Given the description of an element on the screen output the (x, y) to click on. 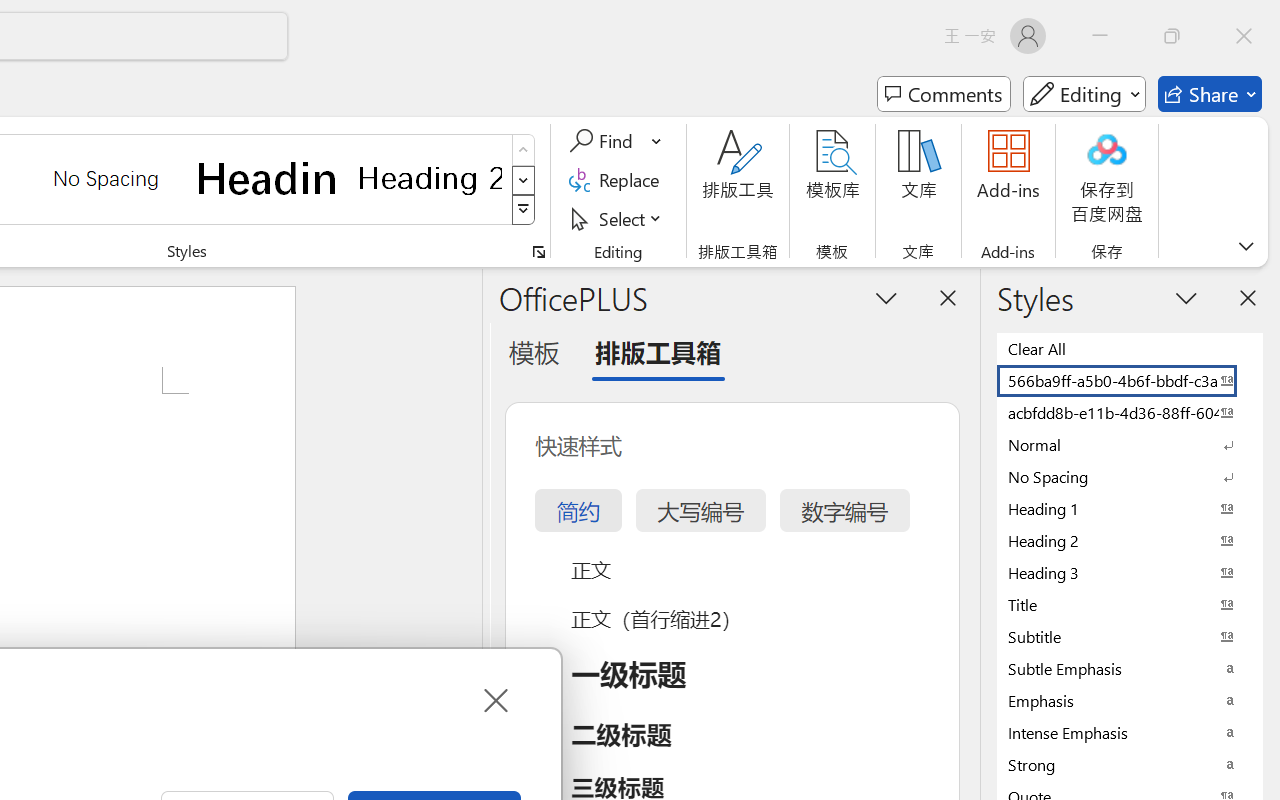
Clear All (1130, 348)
